Given the description of an element on the screen output the (x, y) to click on. 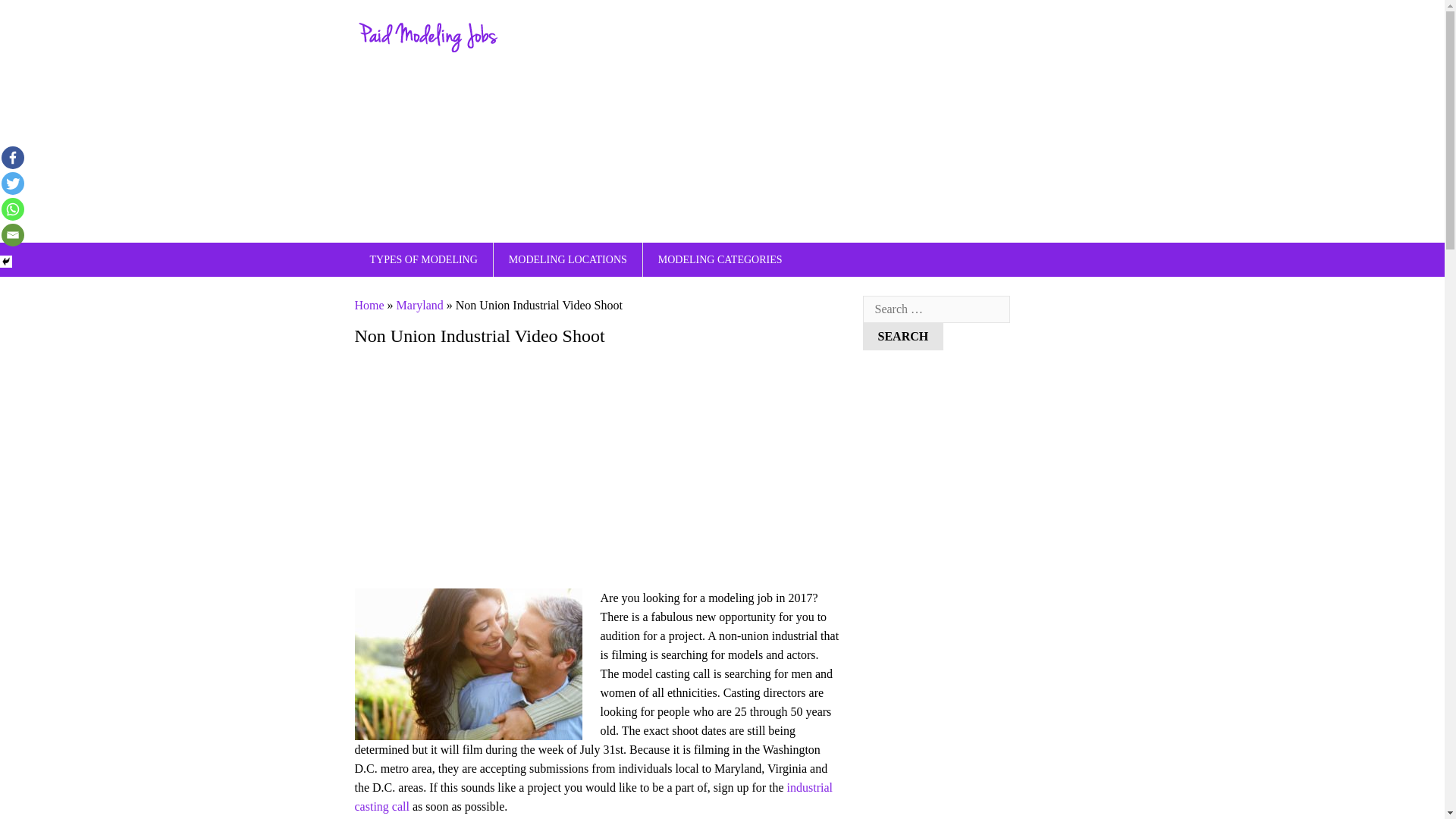
Search (903, 336)
Search (903, 336)
Advertisement (597, 467)
Whatsapp (12, 209)
Hide (5, 261)
Email (12, 234)
Find Free Gigs Posted Daily (429, 48)
Twitter (12, 182)
TYPES OF MODELING (424, 259)
Facebook (12, 157)
MODELING CATEGORIES (720, 259)
MODELING LOCATIONS (567, 259)
Advertisement (809, 121)
